Given the description of an element on the screen output the (x, y) to click on. 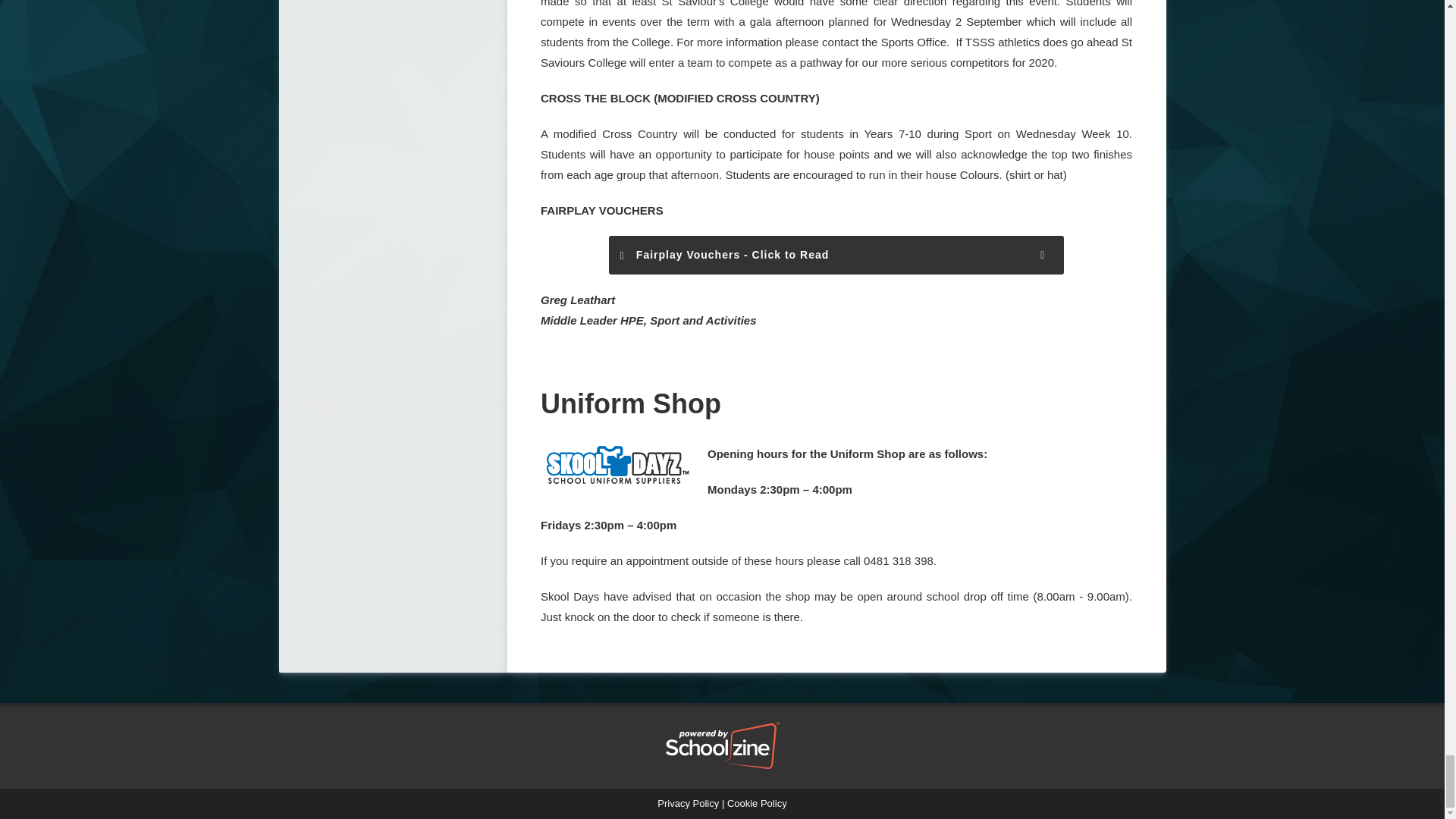
Fairplay Vouchers - Click to Read (836, 254)
